Given the description of an element on the screen output the (x, y) to click on. 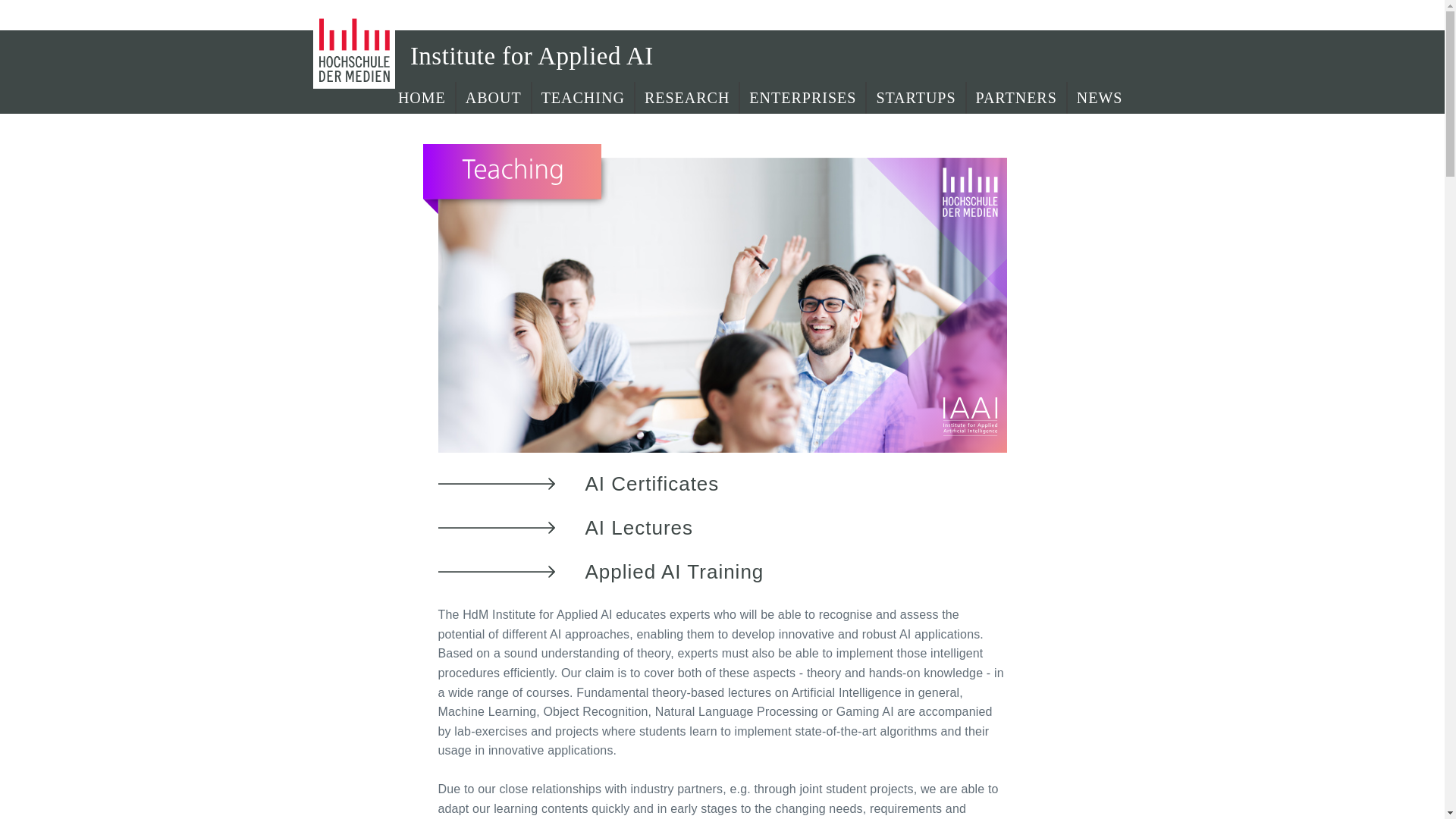
Teaching (583, 97)
Home (422, 97)
Startups (916, 97)
Enterprises (802, 97)
Institute for Applied AI (523, 56)
AI Lectures (639, 527)
STARTUPS (916, 97)
Research (686, 97)
Applied AI Training (674, 571)
News (1099, 97)
